Given the description of an element on the screen output the (x, y) to click on. 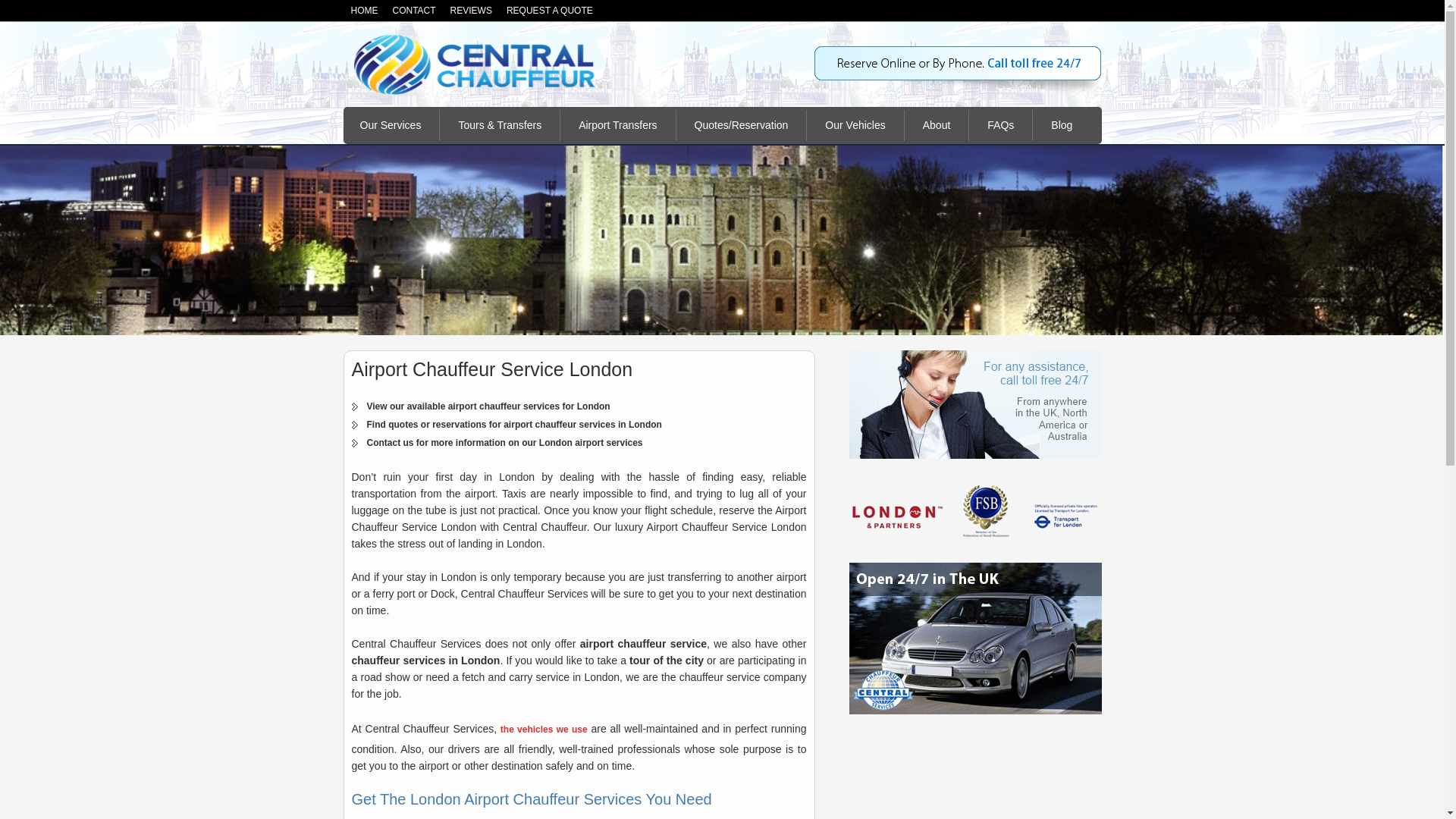
CentralChauffeur.com (475, 63)
Our Vehicles (855, 124)
About (936, 124)
Tours And Transfers (499, 124)
View our available airport chauffeur services for London (488, 406)
Blog (1061, 124)
Airport Transfers (617, 124)
Airport Transfers (617, 124)
Airport Transfers Faq (1000, 124)
Our Services (389, 124)
the vehicles we use (544, 728)
CONTACT (413, 11)
HOME (364, 11)
